Given the description of an element on the screen output the (x, y) to click on. 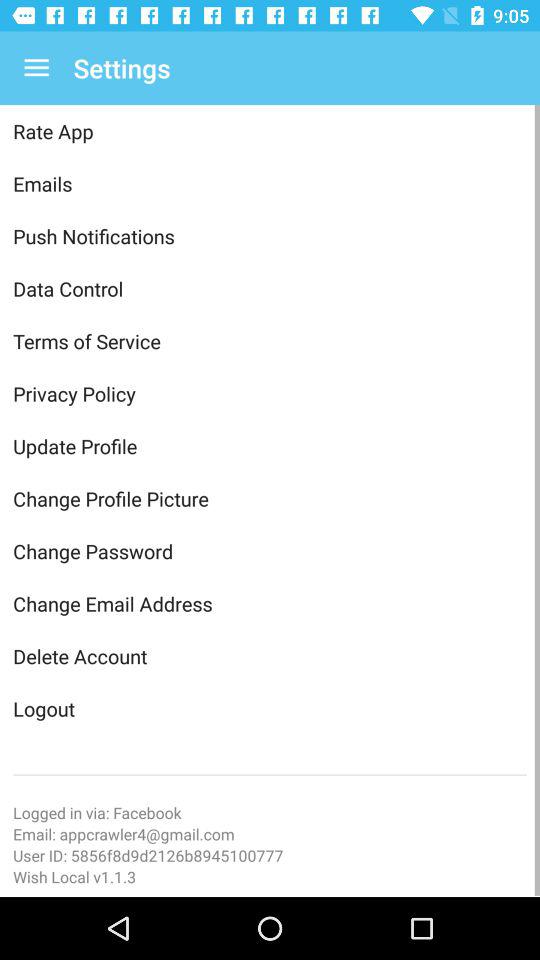
choose the item next to settings icon (36, 68)
